Given the description of an element on the screen output the (x, y) to click on. 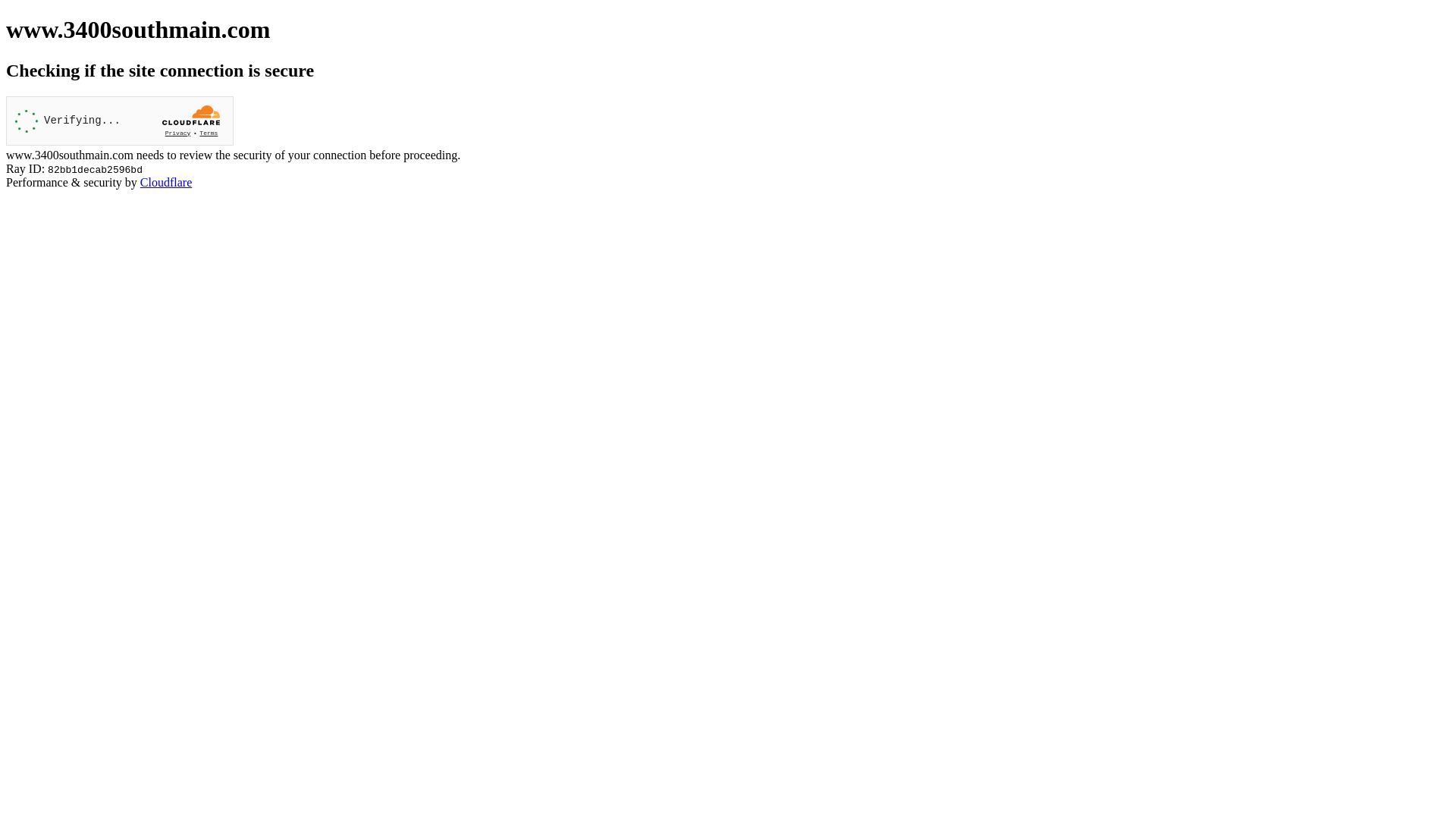
Cloudflare Element type: text (165, 181)
Widget containing a Cloudflare security challenge Element type: hover (119, 120)
